Given the description of an element on the screen output the (x, y) to click on. 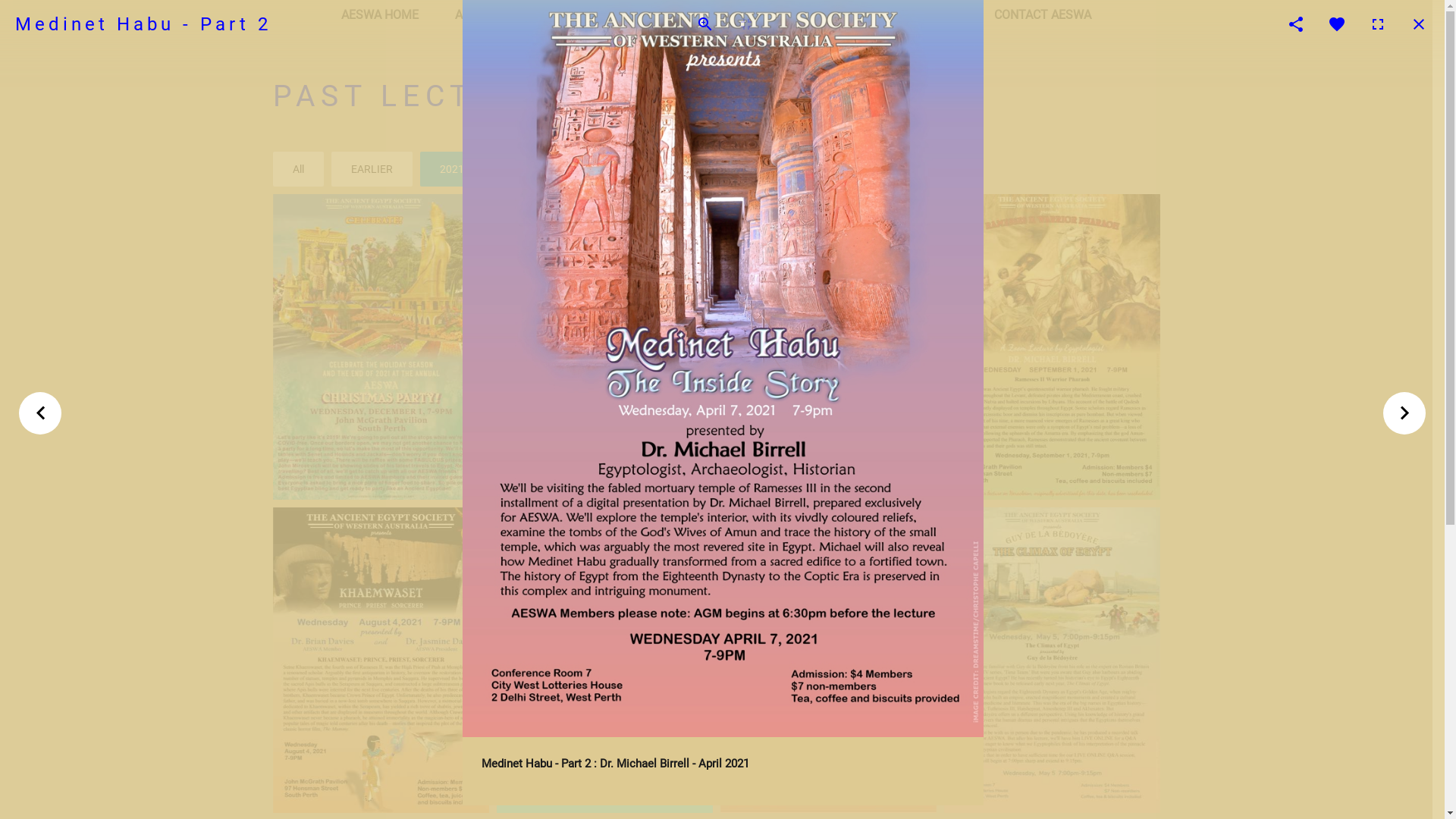
GALLERIES Element type: text (751, 15)
CONTACT AESWA Element type: text (1042, 15)
AESWA EVENTS Element type: text (617, 15)
2021 Element type: text (451, 168)
NEWS Element type: text (940, 15)
2023 Element type: text (594, 168)
EARLIER Element type: text (370, 168)
AESWA HOME Element type: text (379, 15)
ABOUT AESWA Element type: text (495, 15)
JOIN AESWA Element type: text (853, 15)
2022 Element type: text (523, 168)
All Element type: text (298, 168)
